Given the description of an element on the screen output the (x, y) to click on. 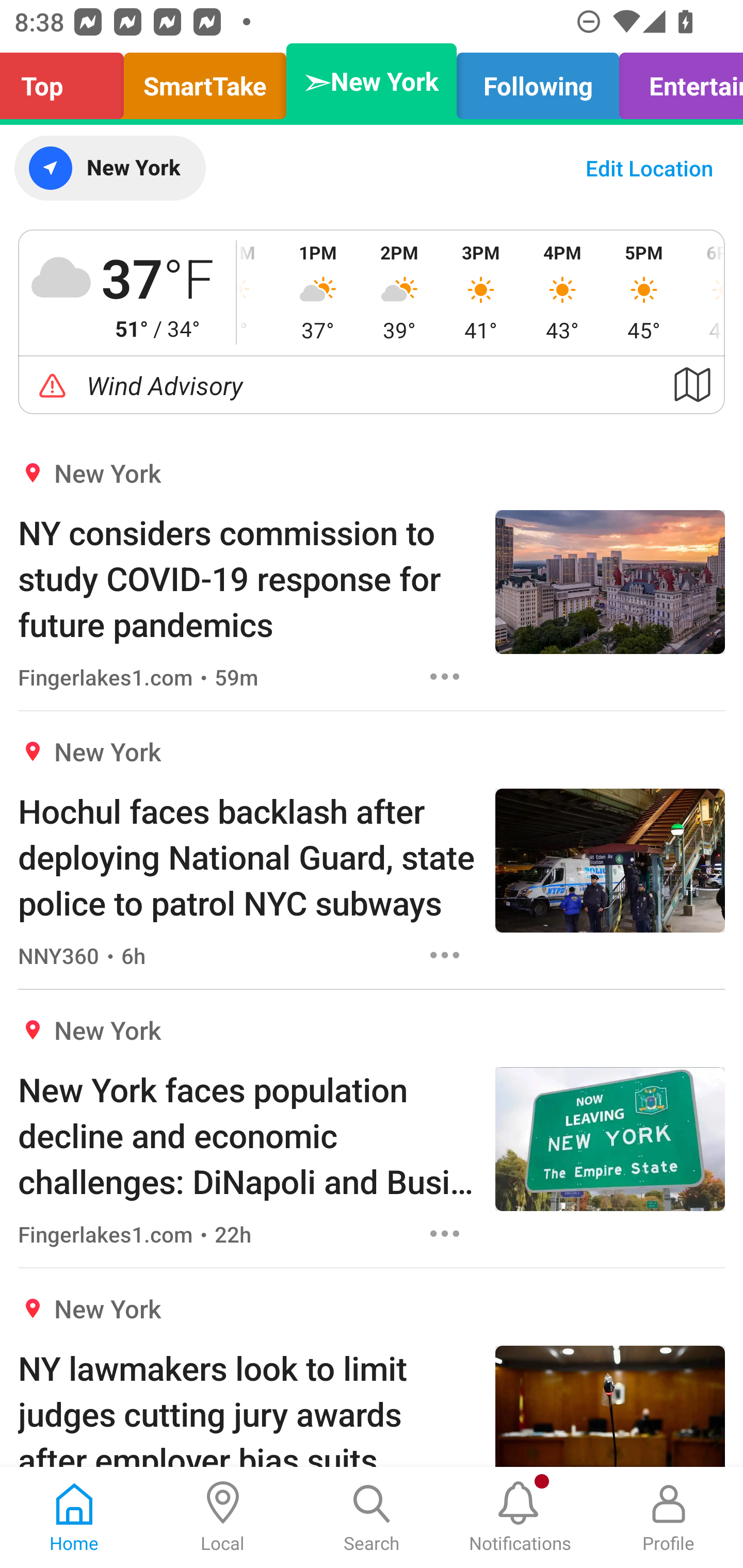
Top (67, 81)
SmartTake (204, 81)
➣New York (371, 81)
Following (537, 81)
New York (109, 168)
Edit Location (648, 168)
1PM 37° (317, 291)
2PM 39° (398, 291)
3PM 41° (480, 291)
4PM 43° (562, 291)
5PM 45° (644, 291)
Wind Advisory (371, 384)
Options (444, 676)
Options (444, 954)
Options (444, 1233)
Local (222, 1517)
Search (371, 1517)
Notifications, New notification Notifications (519, 1517)
Profile (668, 1517)
